Given the description of an element on the screen output the (x, y) to click on. 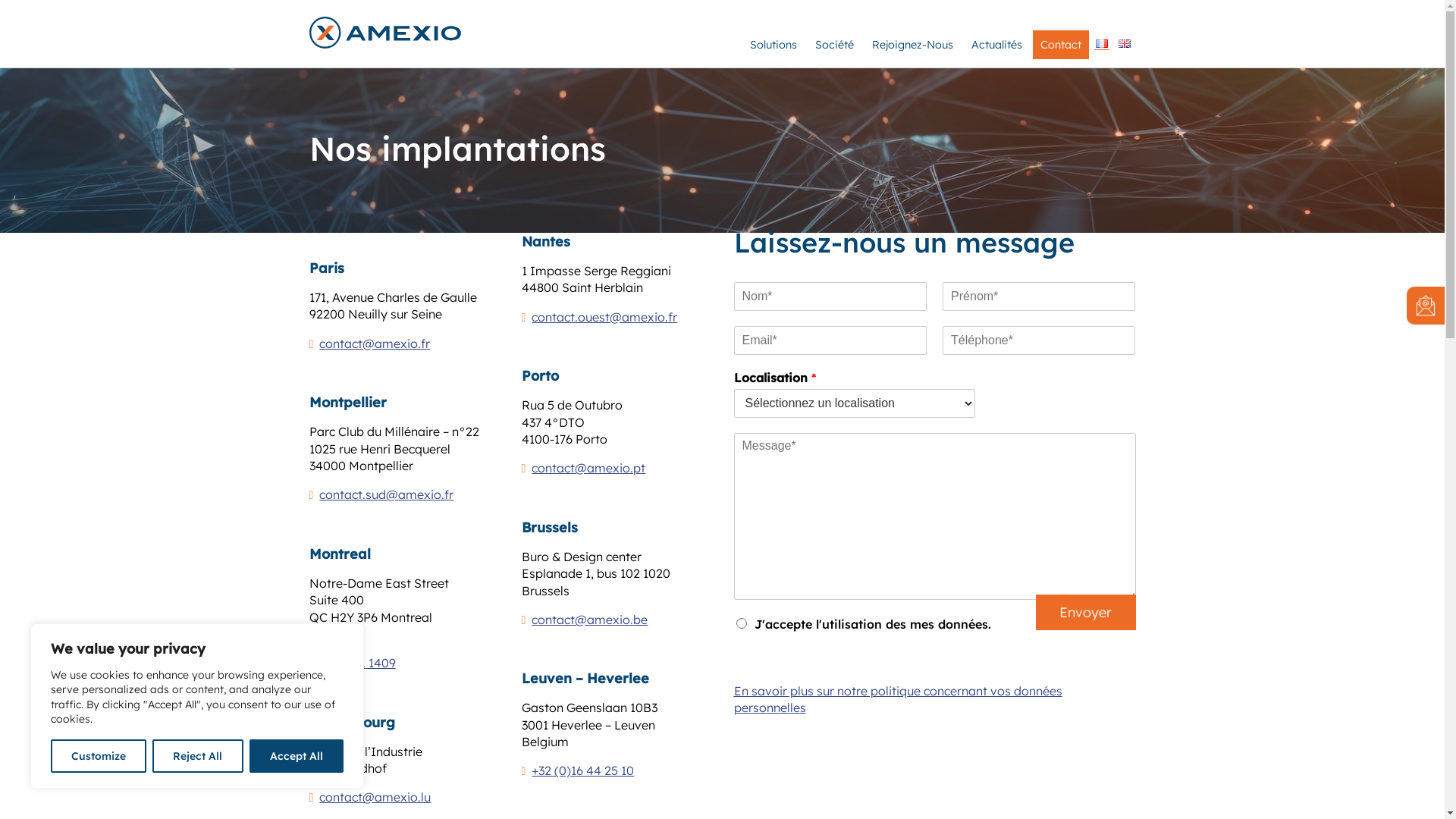
Envoyer Element type: text (1085, 612)
contact.sud@amexio.fr Element type: text (386, 494)
Customize Element type: text (98, 755)
FRANCAIS Element type: hover (1100, 43)
+32 (0)16 44 25 10 Element type: text (582, 770)
Rejoignez-Nous Element type: text (912, 44)
+1 514 871 1409 Element type: text (352, 662)
ENGLISH Element type: hover (1123, 43)
Reject All Element type: text (197, 755)
contact.ouest@amexio.fr Element type: text (604, 316)
Contact Element type: text (1060, 44)
contact@amexio.pt Element type: text (588, 467)
contact@amexio.fr Element type: text (374, 343)
Accept All Element type: text (296, 755)
contact@amexio.be Element type: text (589, 619)
Solutions Element type: text (772, 44)
contact@amexio.lu Element type: text (374, 796)
